Given the description of an element on the screen output the (x, y) to click on. 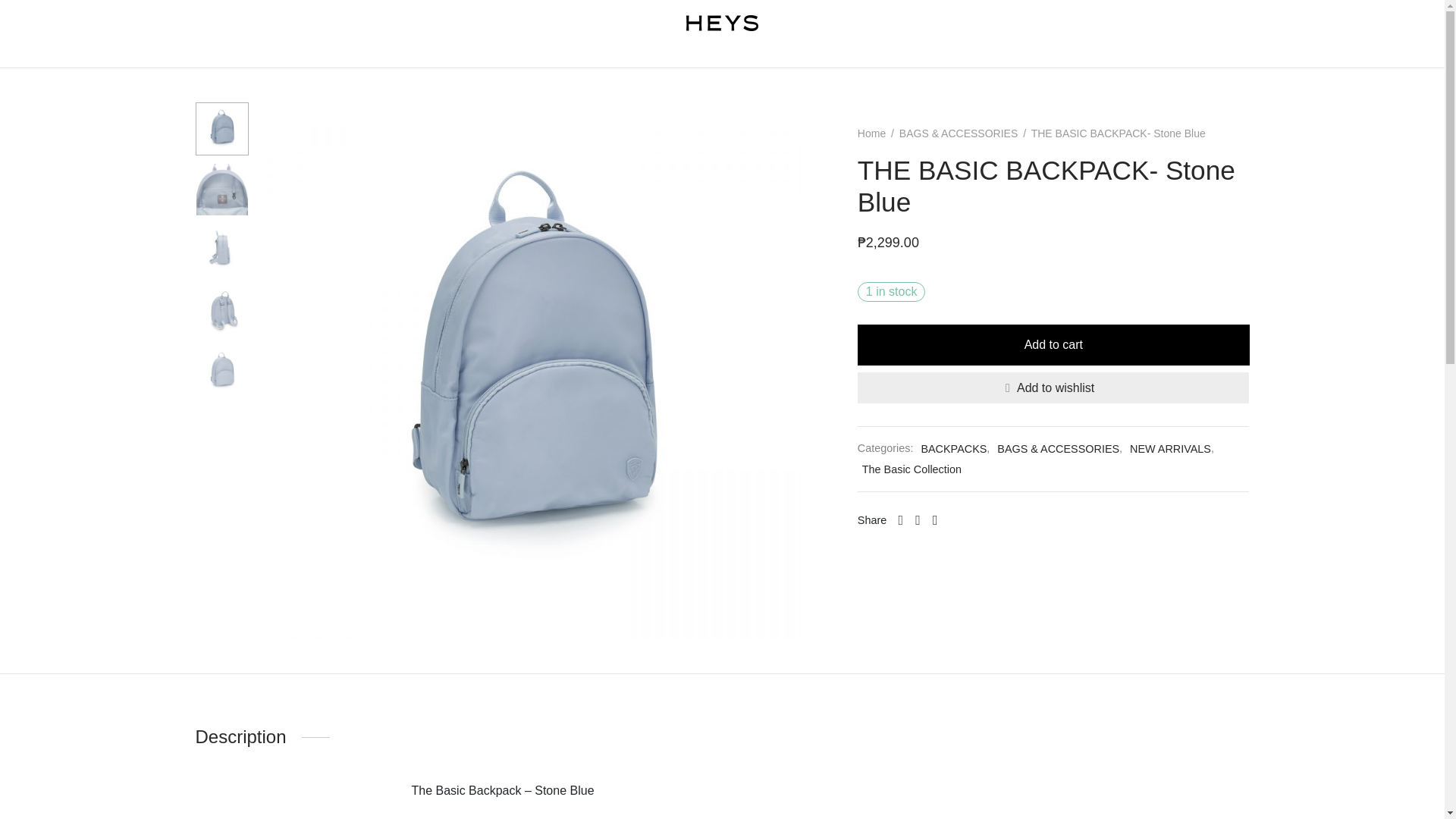
Cart (1329, 22)
BACKPACKS (663, 57)
NEW (415, 57)
LUGGAGE (476, 57)
KIDS (884, 57)
COLLECTIONS (567, 57)
